Given the description of an element on the screen output the (x, y) to click on. 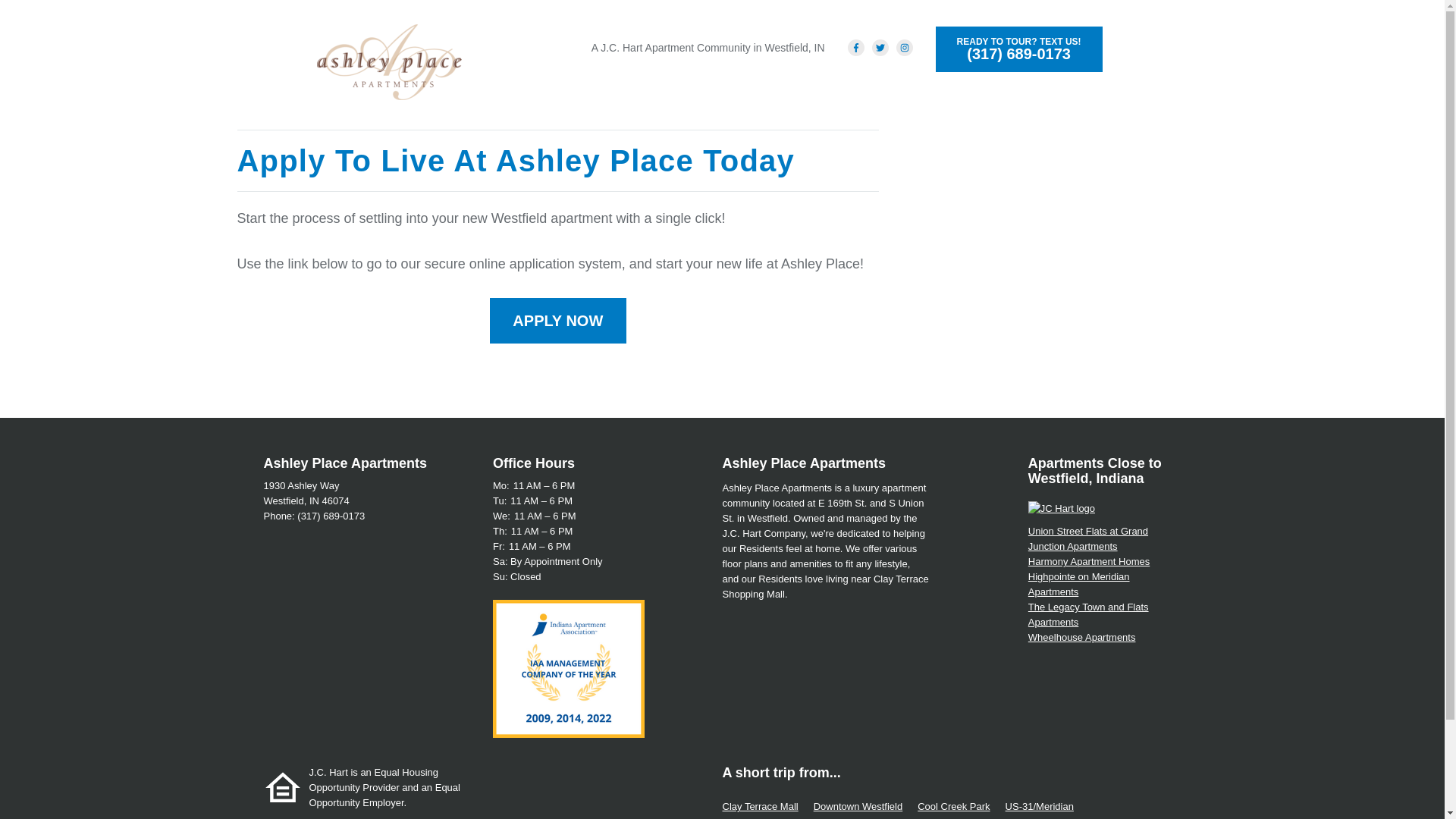
Ashley Place Apartments Home (389, 61)
Like us on Facebook (855, 47)
APPLY NOW (557, 320)
Union Street Flats at Grand Junction Apartments (1087, 538)
AMENITIES (730, 89)
GALLERY (909, 89)
Harmony Apartment Homes (1088, 561)
Follow us on Instagram (904, 47)
Follow us on Twitter (880, 47)
RESIDENTS (989, 89)
